Given the description of an element on the screen output the (x, y) to click on. 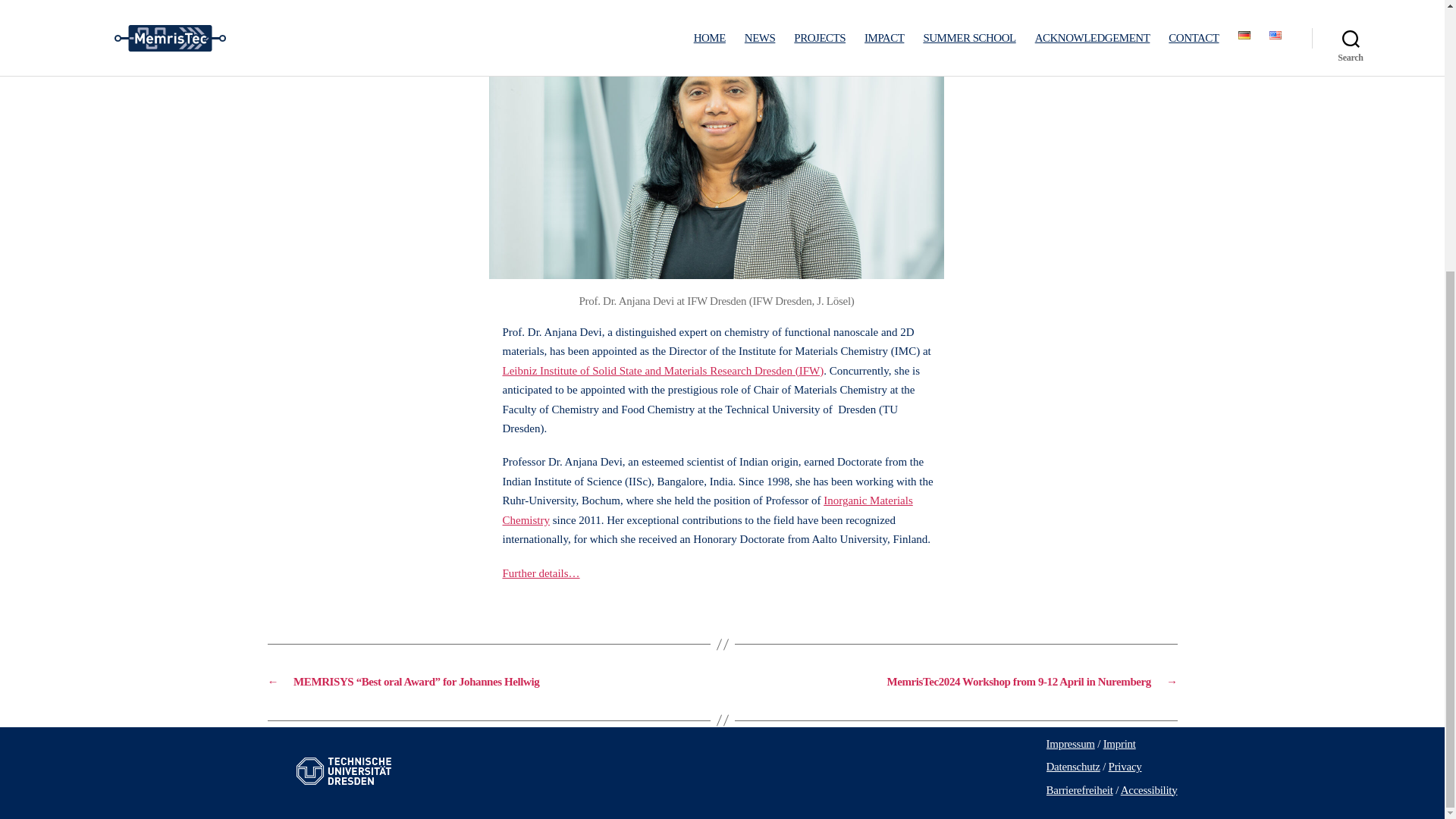
Inorganic Materials Chemistry (707, 510)
